Given the description of an element on the screen output the (x, y) to click on. 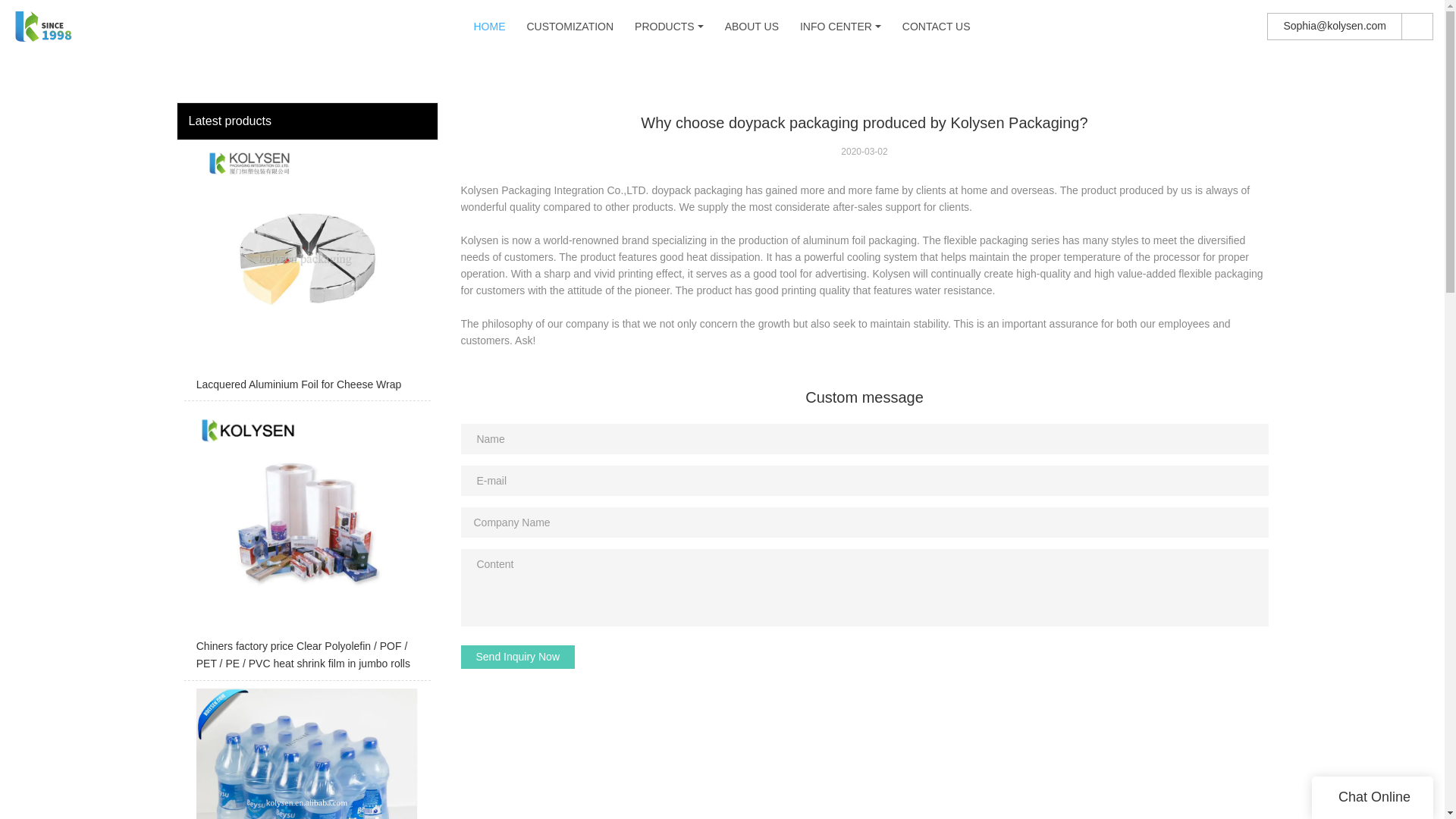
CONTACT US (936, 26)
Polyethylene Film Stretch Film Good-quality Shrink Wrap (306, 753)
CUSTOMIZATION (568, 26)
INFO CENTER (835, 26)
Lacquered Aluminium Foil for Cheese Wrap (306, 274)
HOME (489, 26)
PRODUCTS (664, 26)
ABOUT US (751, 26)
